Given the description of an element on the screen output the (x, y) to click on. 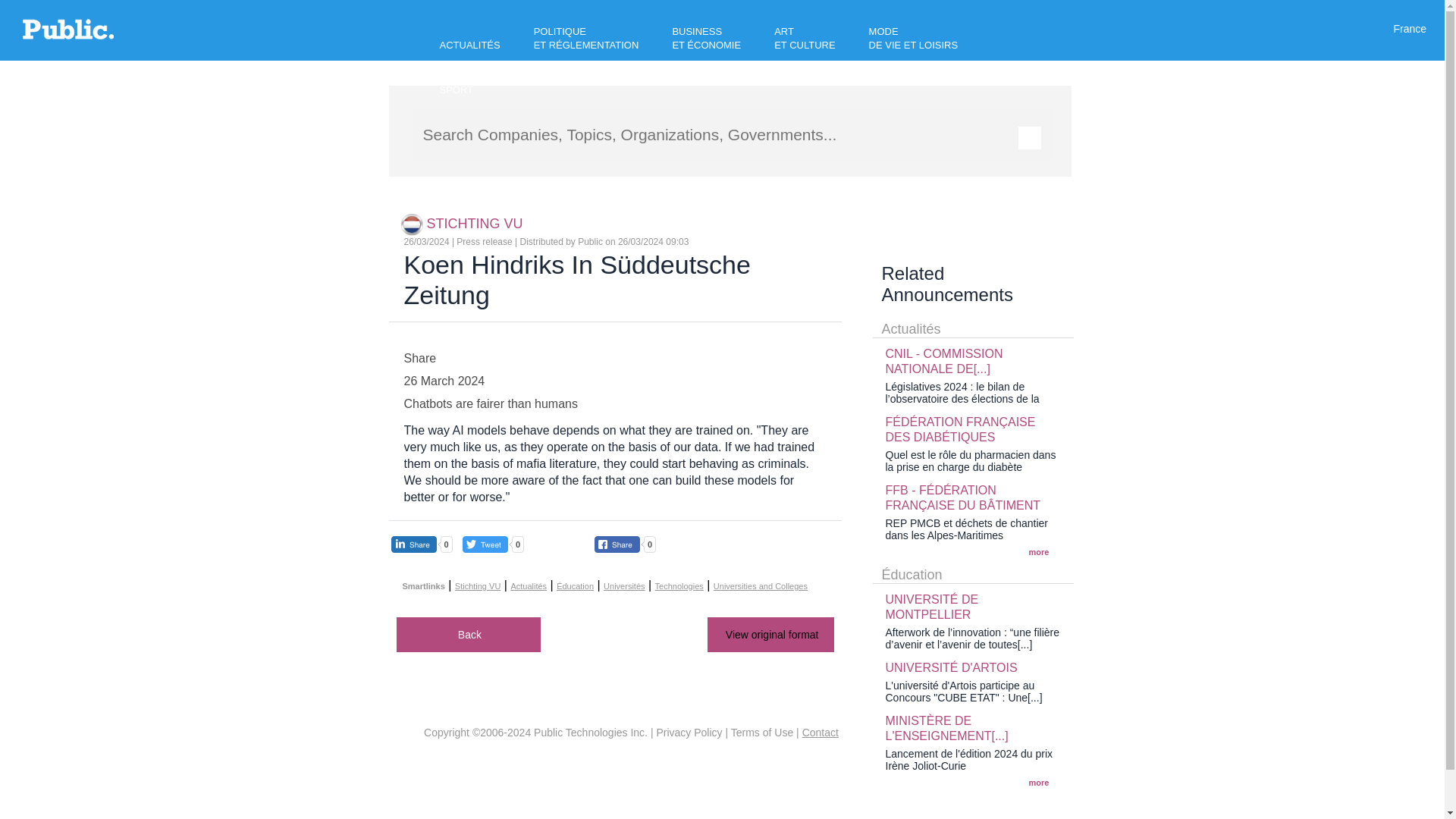
Change your country and language setting (1409, 28)
Read this noodl at the source's website (770, 634)
Go back to the public home page (68, 34)
Send us your feedback (820, 732)
 France  (1409, 28)
Stichting VU (413, 222)
